Given the description of an element on the screen output the (x, y) to click on. 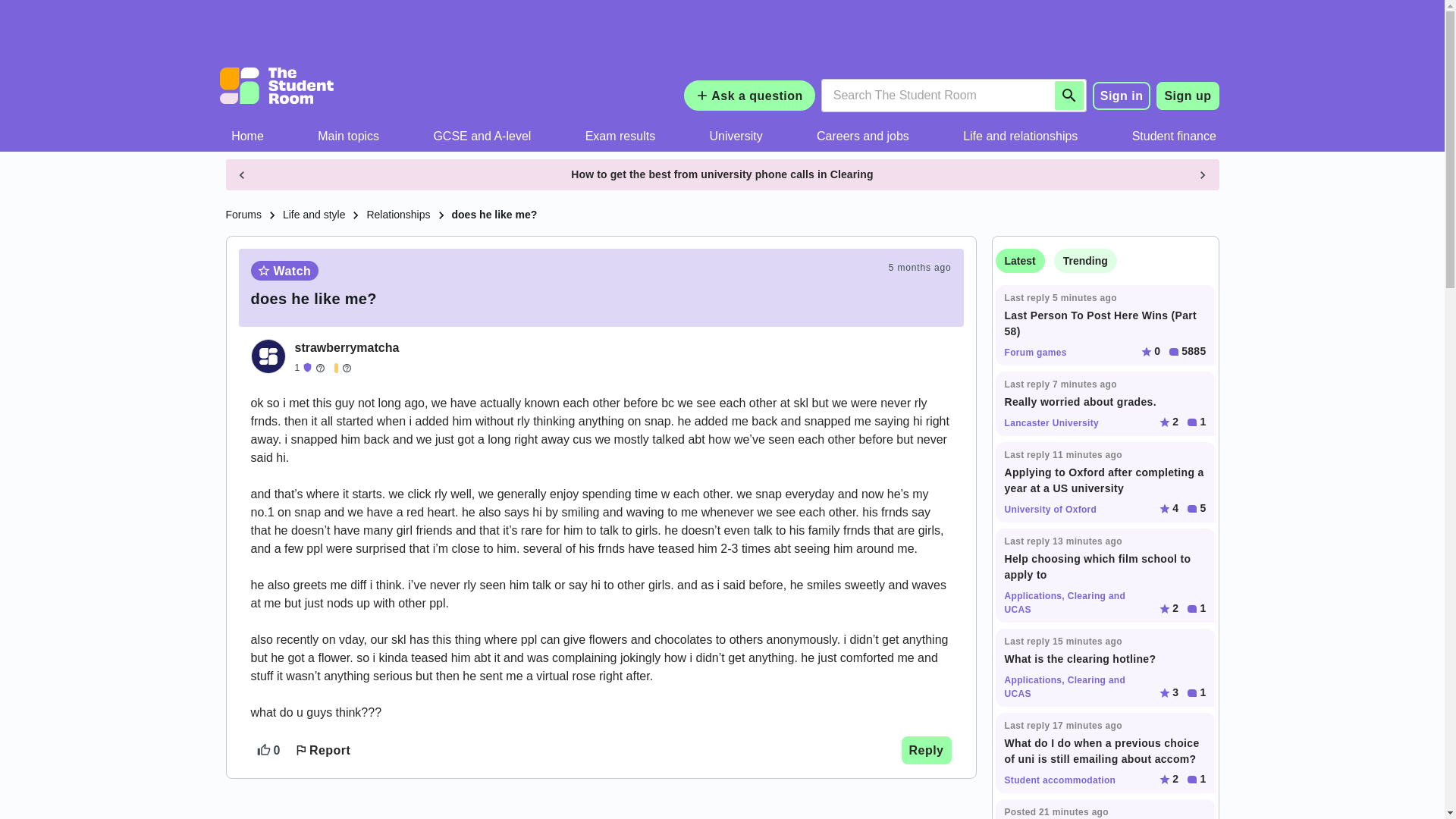
Main topics (348, 136)
Sign in (1122, 95)
Home (248, 136)
Ask a question (749, 95)
Sign up (1187, 95)
Sign in (1122, 95)
GCSE and A-level (481, 136)
